Given the description of an element on the screen output the (x, y) to click on. 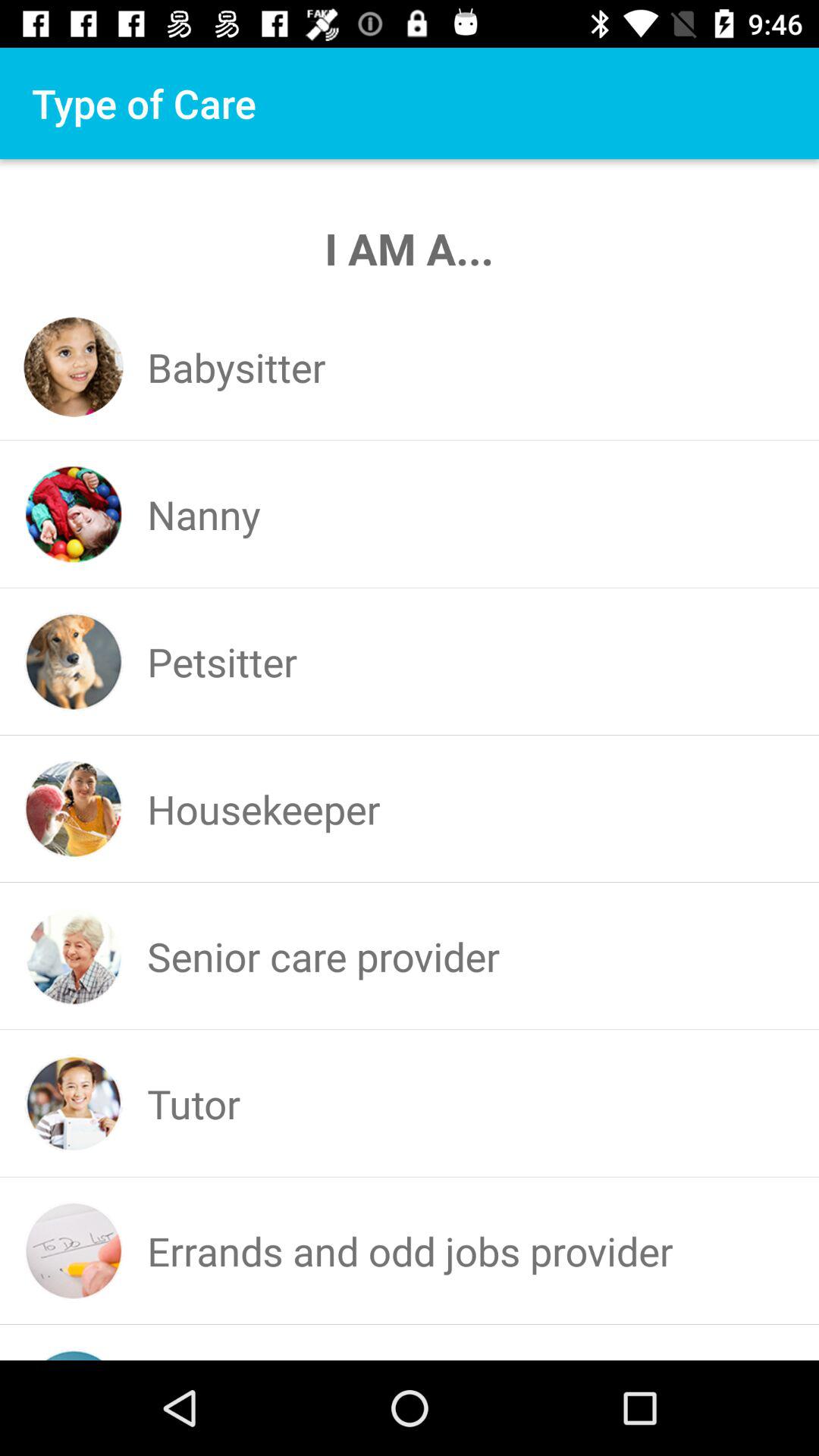
launch the tutor icon (193, 1103)
